Given the description of an element on the screen output the (x, y) to click on. 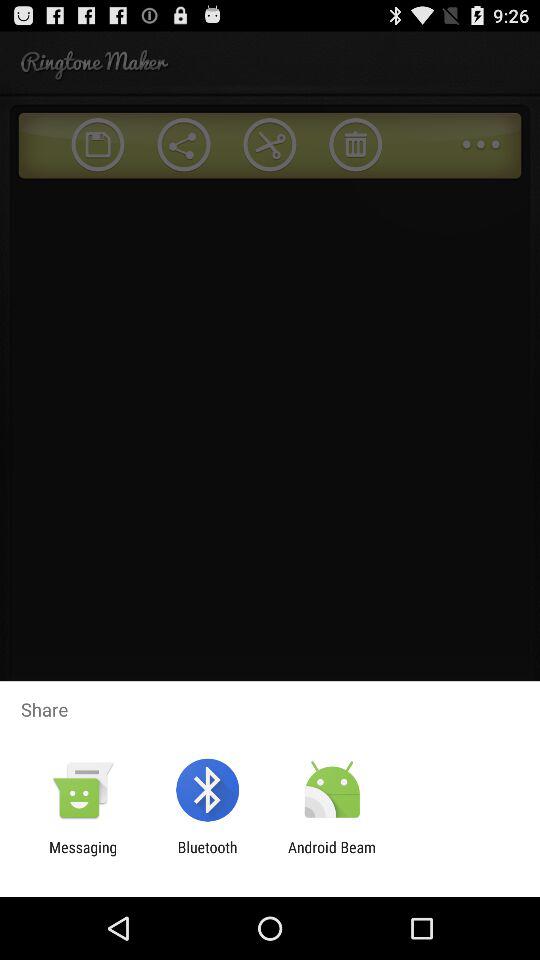
launch the app to the left of android beam item (207, 856)
